Given the description of an element on the screen output the (x, y) to click on. 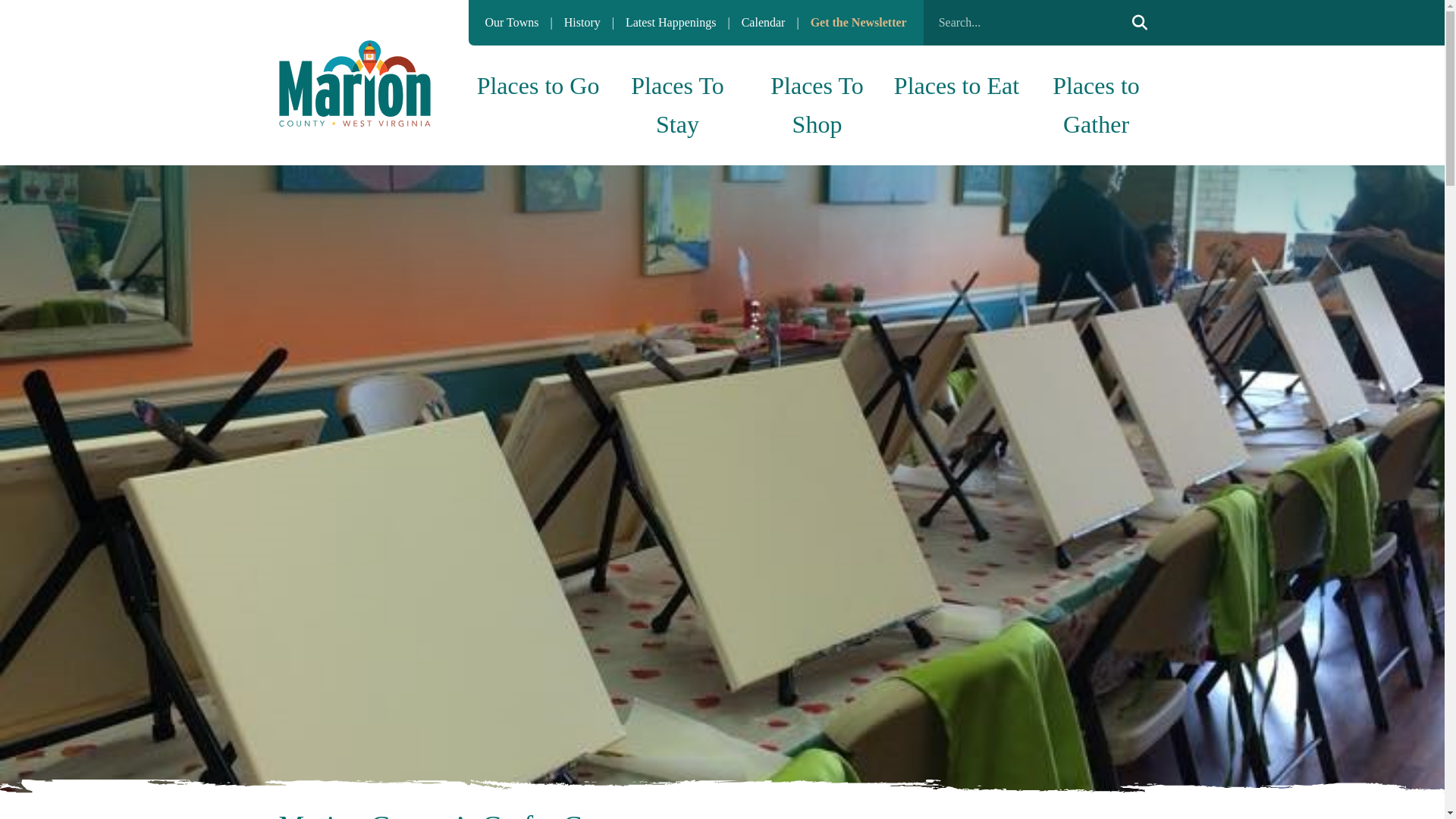
Places to Go (538, 85)
Calendar (764, 21)
Search (1139, 22)
History (583, 21)
Latest Happenings (672, 21)
Places To Stay (678, 105)
Get the Newsletter (858, 21)
Our Towns (512, 21)
